Given the description of an element on the screen output the (x, y) to click on. 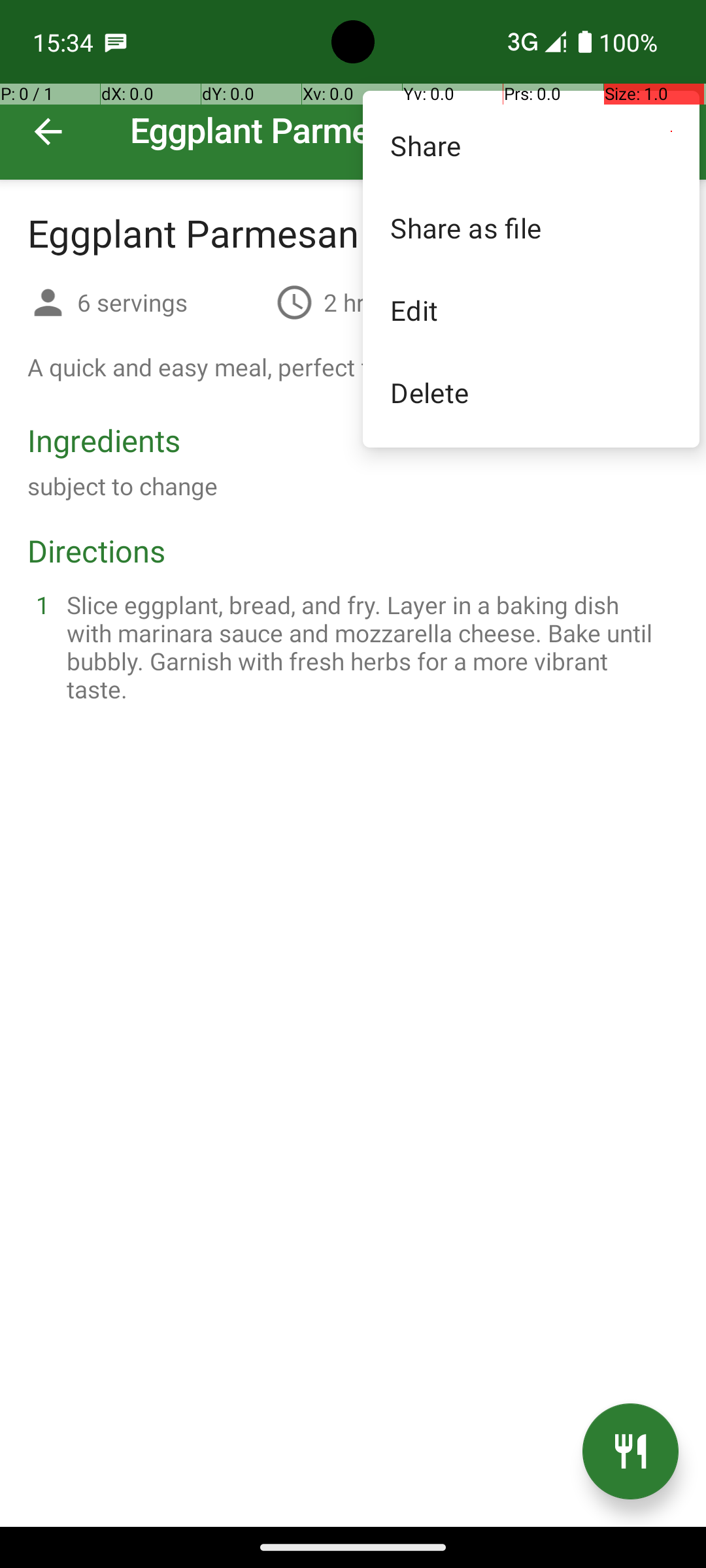
Share as file Element type: android.widget.TextView (531, 227)
